Given the description of an element on the screen output the (x, y) to click on. 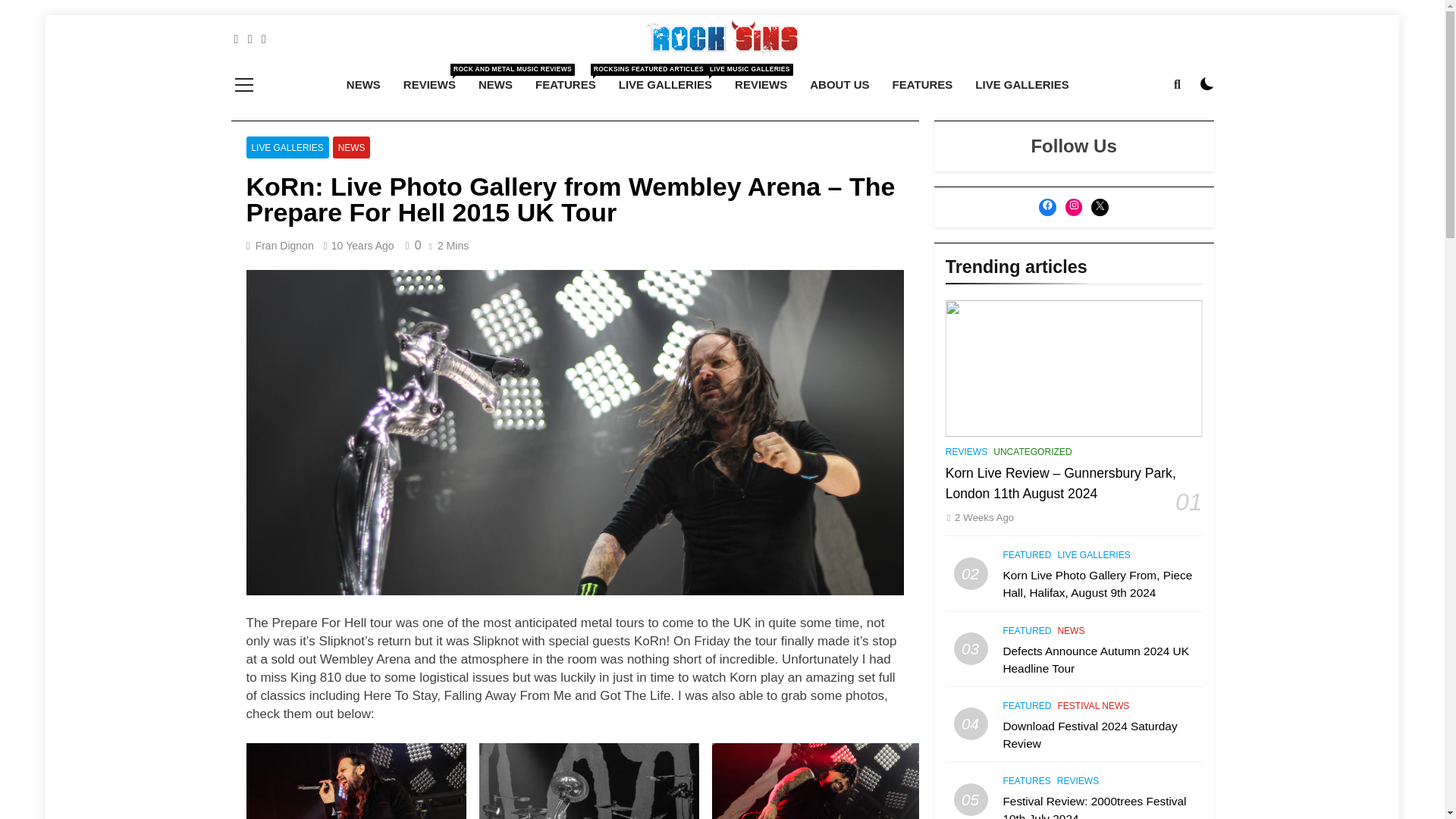
FEATURES (921, 84)
Rock Sins (553, 75)
0 (411, 245)
NEWS (495, 84)
LIVE GALLERIES (287, 147)
REVIEWS (760, 84)
ABOUT US (665, 84)
